Given the description of an element on the screen output the (x, y) to click on. 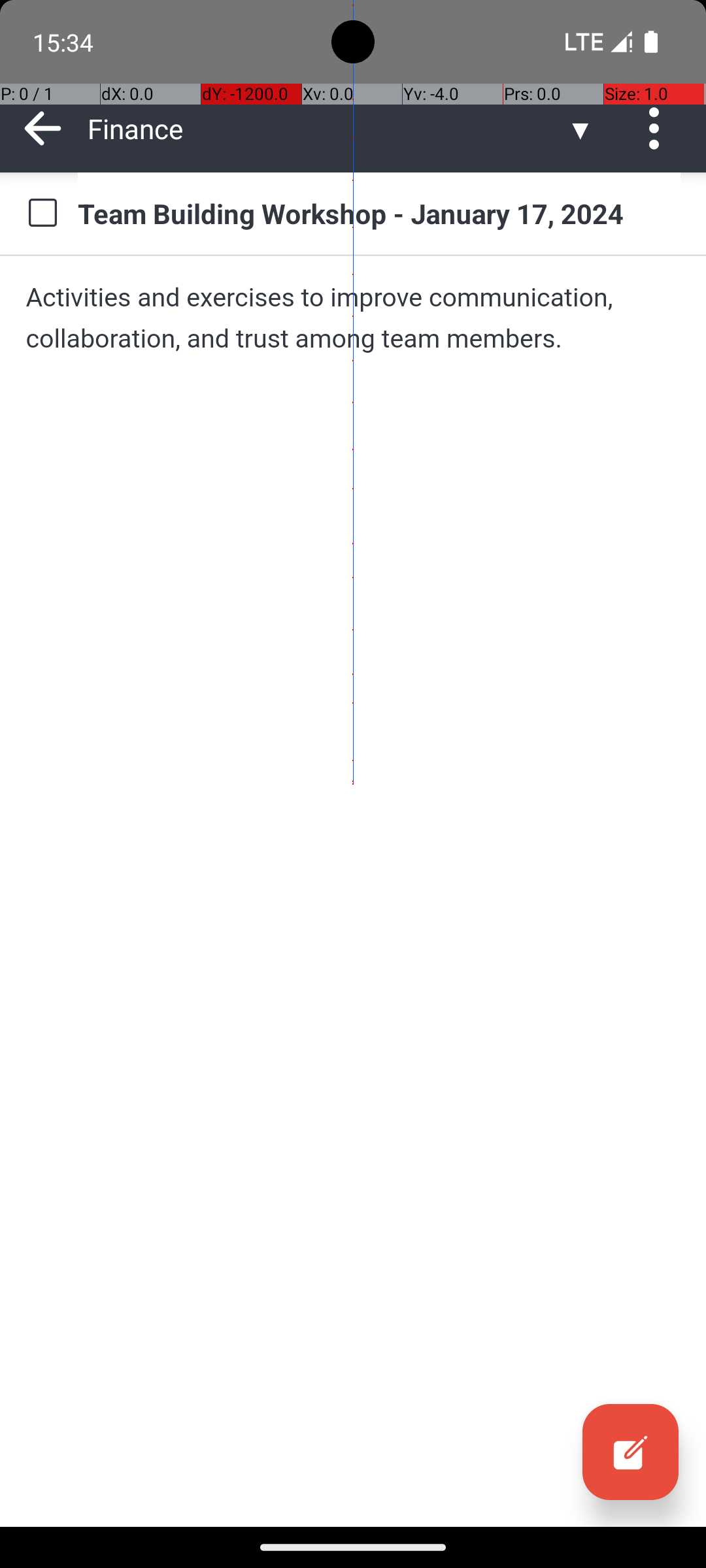
Team Building Workshop - January 17, 2024 Element type: android.widget.EditText (378, 213)
Edit, collapsed Element type: android.widget.Button (630, 1452)
Finance Element type: android.widget.TextView (326, 128)
 Element type: android.widget.TextView (630, 1451)
Activities and exercises to improve communication, collaboration, and trust among team members. Element type: android.widget.TextView (352, 317)
